Given the description of an element on the screen output the (x, y) to click on. 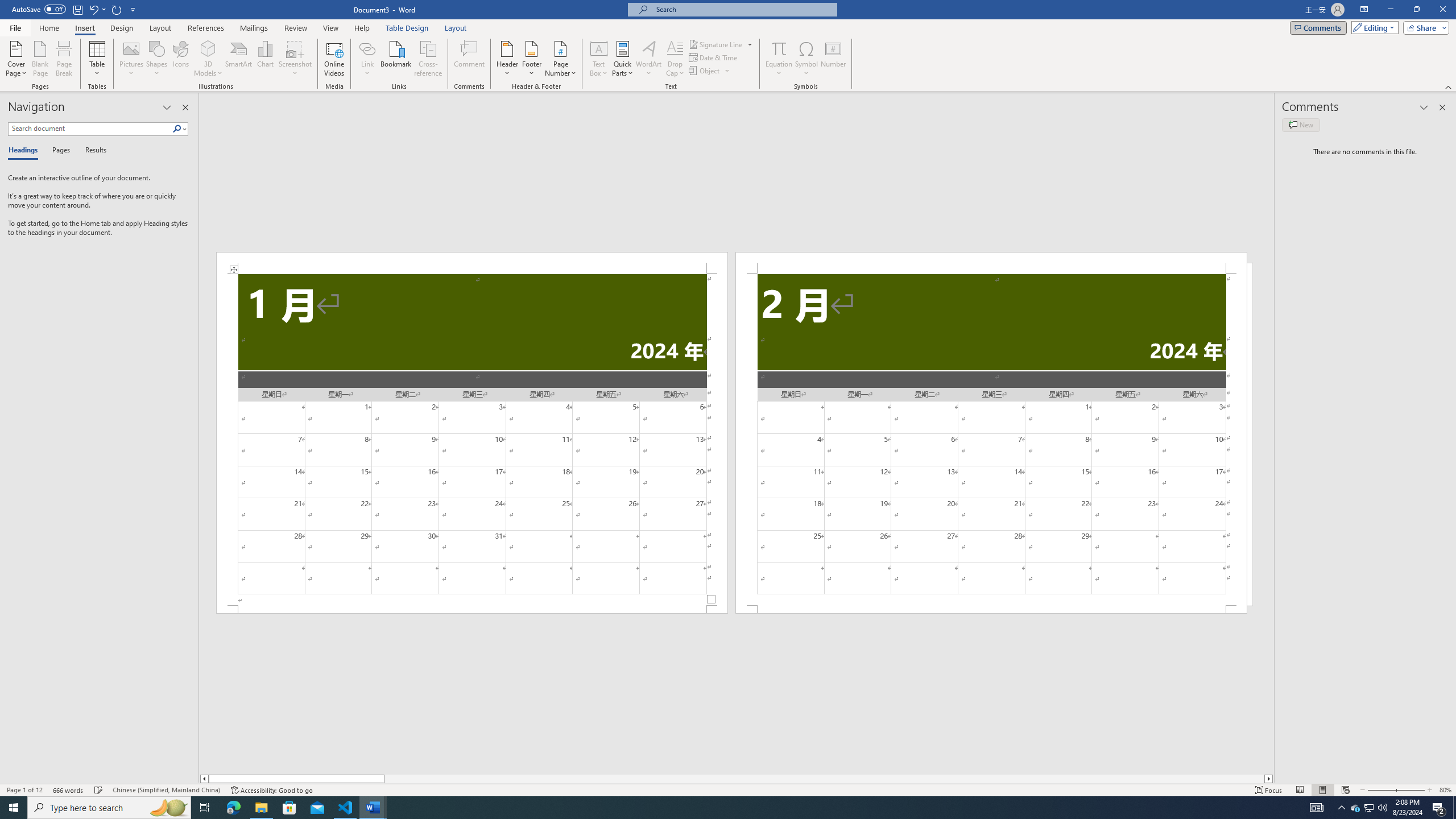
View (330, 28)
3D Models (208, 58)
Page Number (560, 58)
Customize Quick Access Toolbar (133, 9)
SmartArt... (238, 58)
Mode (1372, 27)
Headings (25, 150)
Object... (705, 69)
Online Videos... (333, 58)
Collapse the Ribbon (1448, 86)
Save (77, 9)
Review (295, 28)
Drop Cap (674, 58)
Word Count 666 words (68, 790)
